Given the description of an element on the screen output the (x, y) to click on. 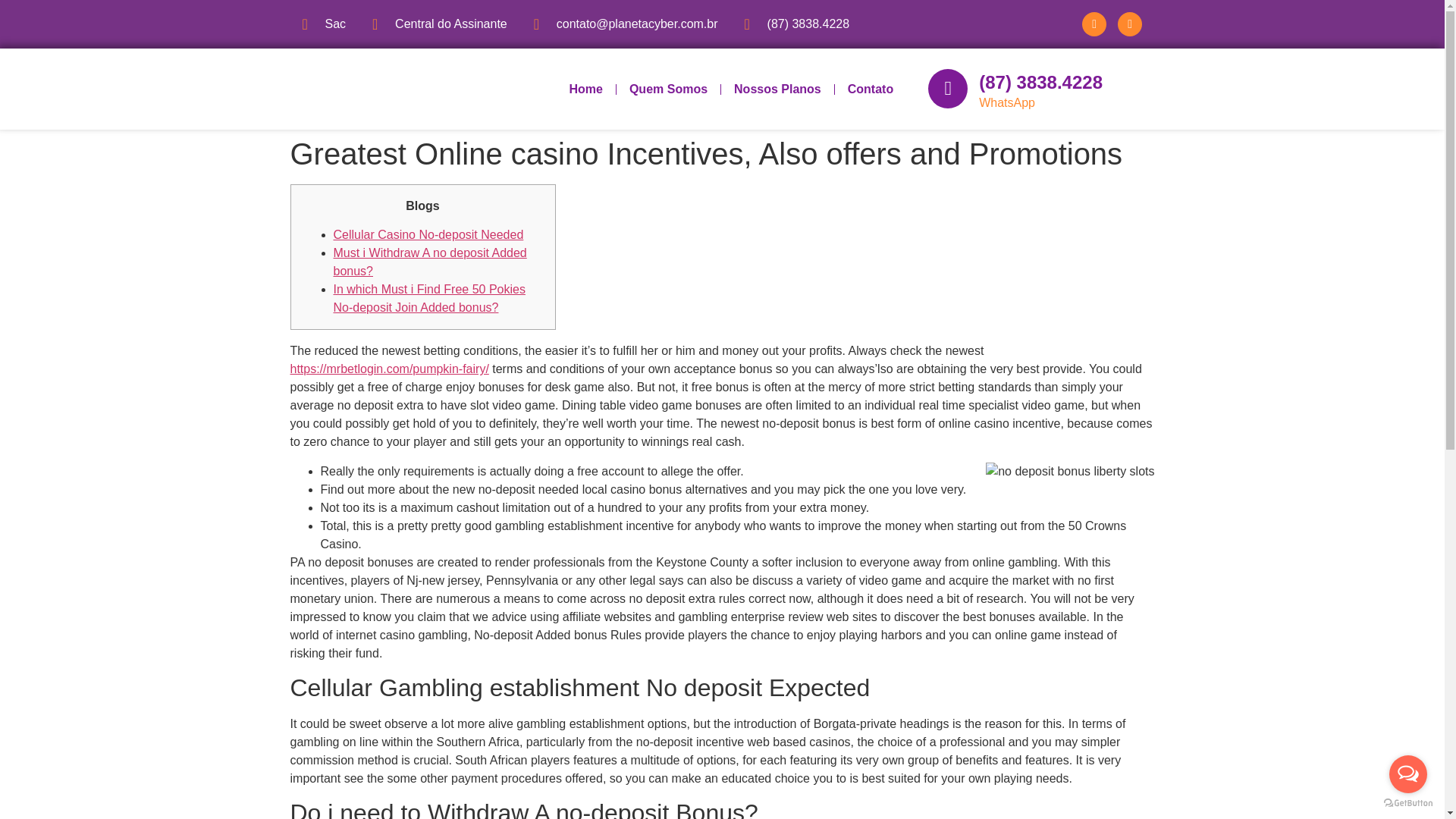
Cellular Casino No-deposit Needed (428, 234)
Home (585, 88)
Nossos Planos (777, 88)
Central do Assinante (439, 24)
Quem Somos (667, 88)
Sac (323, 24)
Contato (869, 88)
Must i Withdraw A no deposit Added bonus? (430, 261)
